Given the description of an element on the screen output the (x, y) to click on. 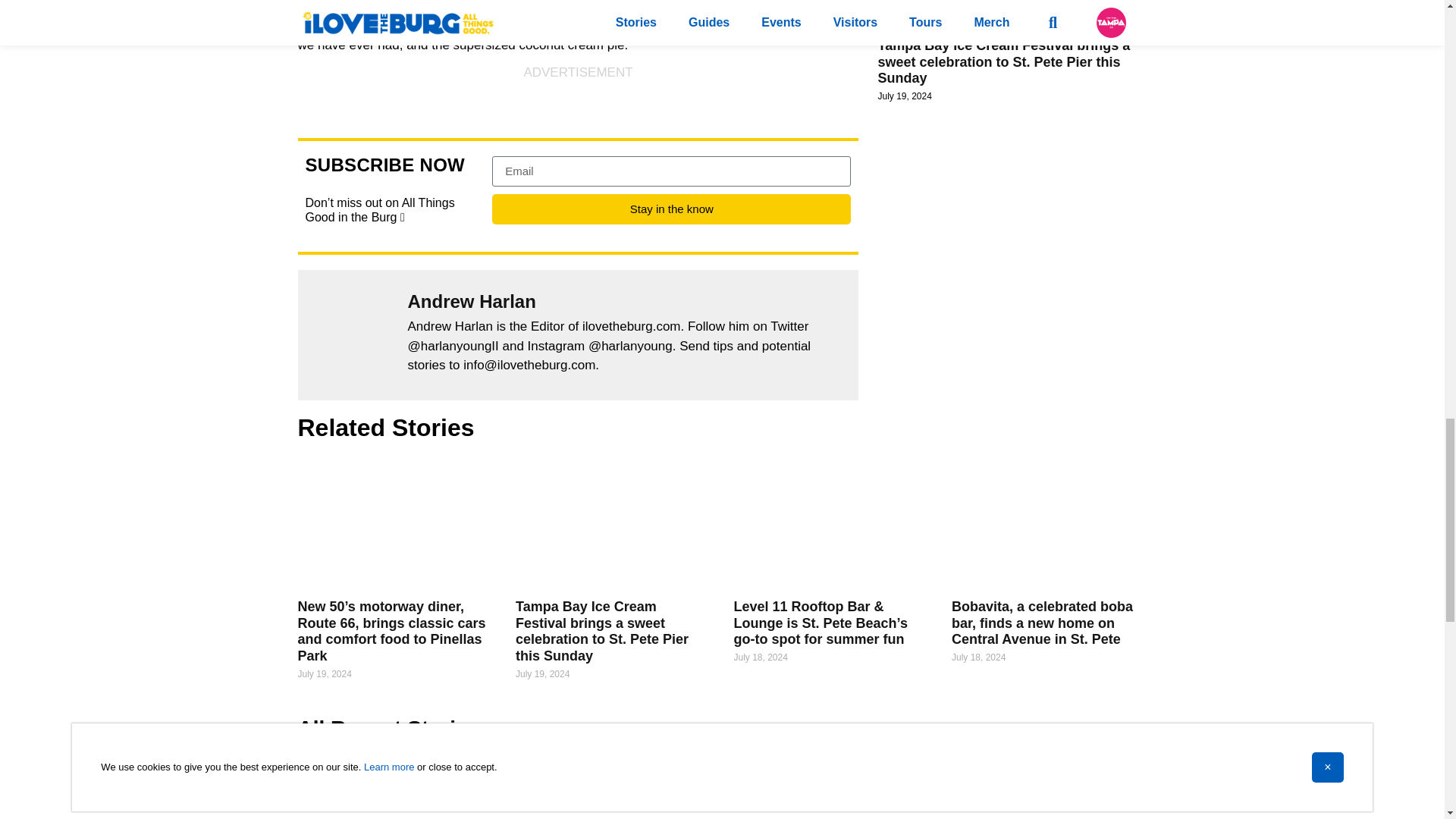
Link opens an external site. (617, 1)
